Given the description of an element on the screen output the (x, y) to click on. 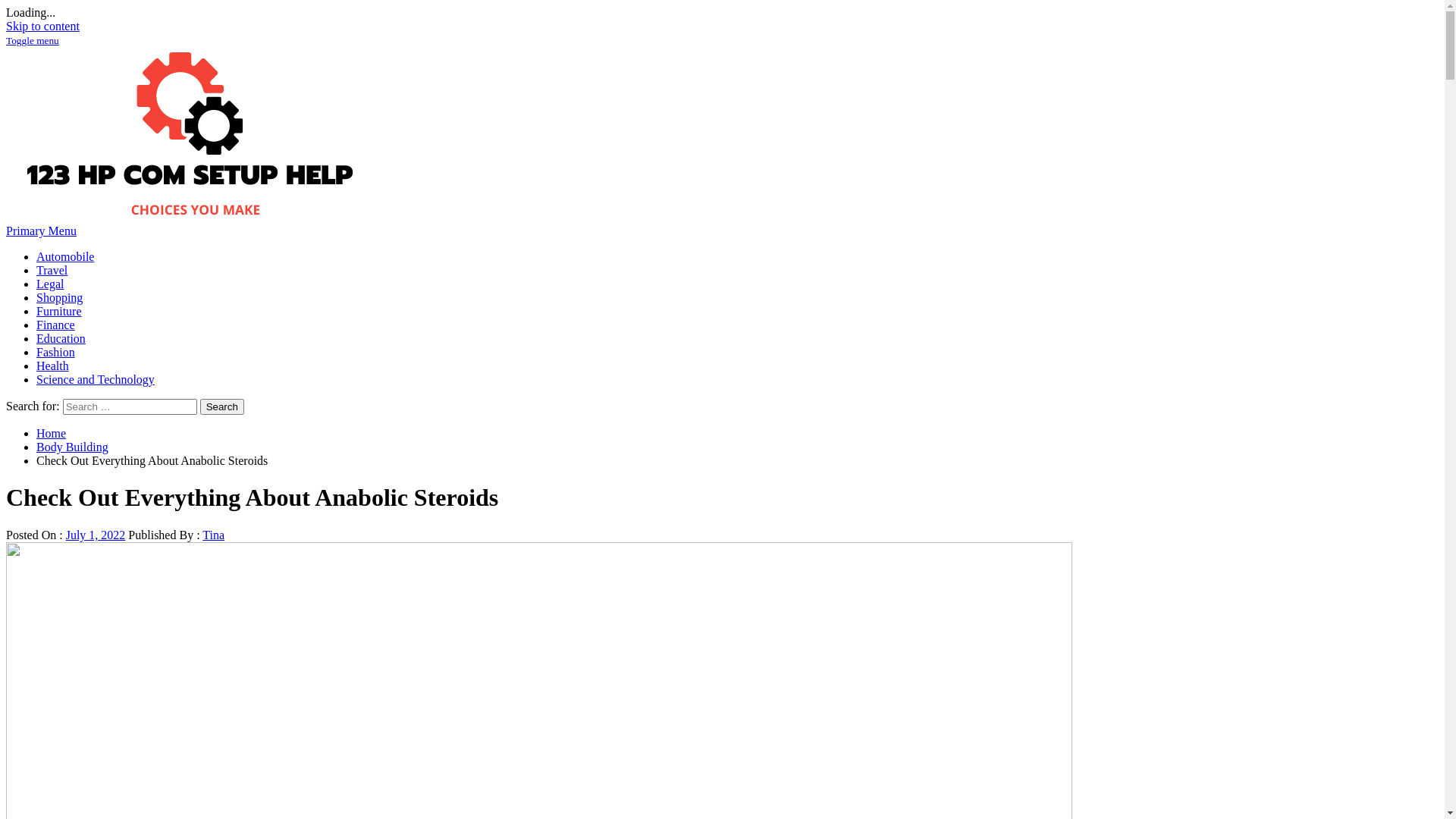
Health Element type: text (52, 365)
Primary Menu Element type: text (41, 230)
Furniture Element type: text (58, 310)
Search Element type: text (222, 406)
Skip to content Element type: text (42, 25)
Body Building Element type: text (72, 446)
Legal Element type: text (49, 283)
Home Element type: text (50, 432)
Fashion Element type: text (55, 351)
Education Element type: text (60, 338)
Shopping Element type: text (59, 297)
Science and Technology Element type: text (95, 379)
Automobile Element type: text (65, 256)
Finance Element type: text (55, 324)
July 1, 2022 Element type: text (95, 534)
Travel Element type: text (51, 269)
Tina Element type: text (213, 534)
Toggle menu Element type: text (32, 39)
123 HP Com Setup Help Element type: text (66, 53)
